Given the description of an element on the screen output the (x, y) to click on. 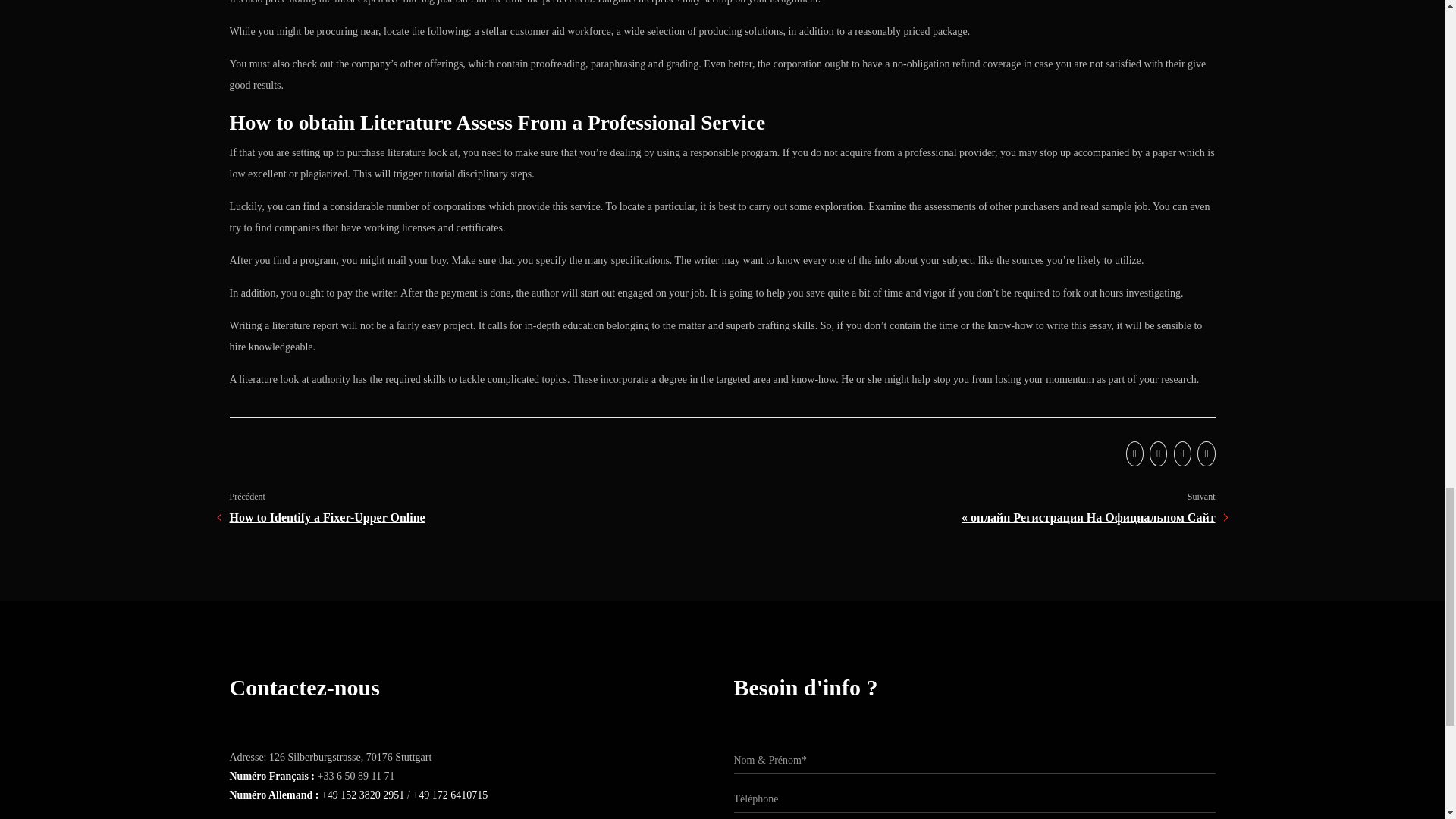
Suivant (1201, 496)
Twitter (1132, 453)
Facebook (1156, 453)
How to Identify a Fixer-Upper Online (326, 517)
